Given the description of an element on the screen output the (x, y) to click on. 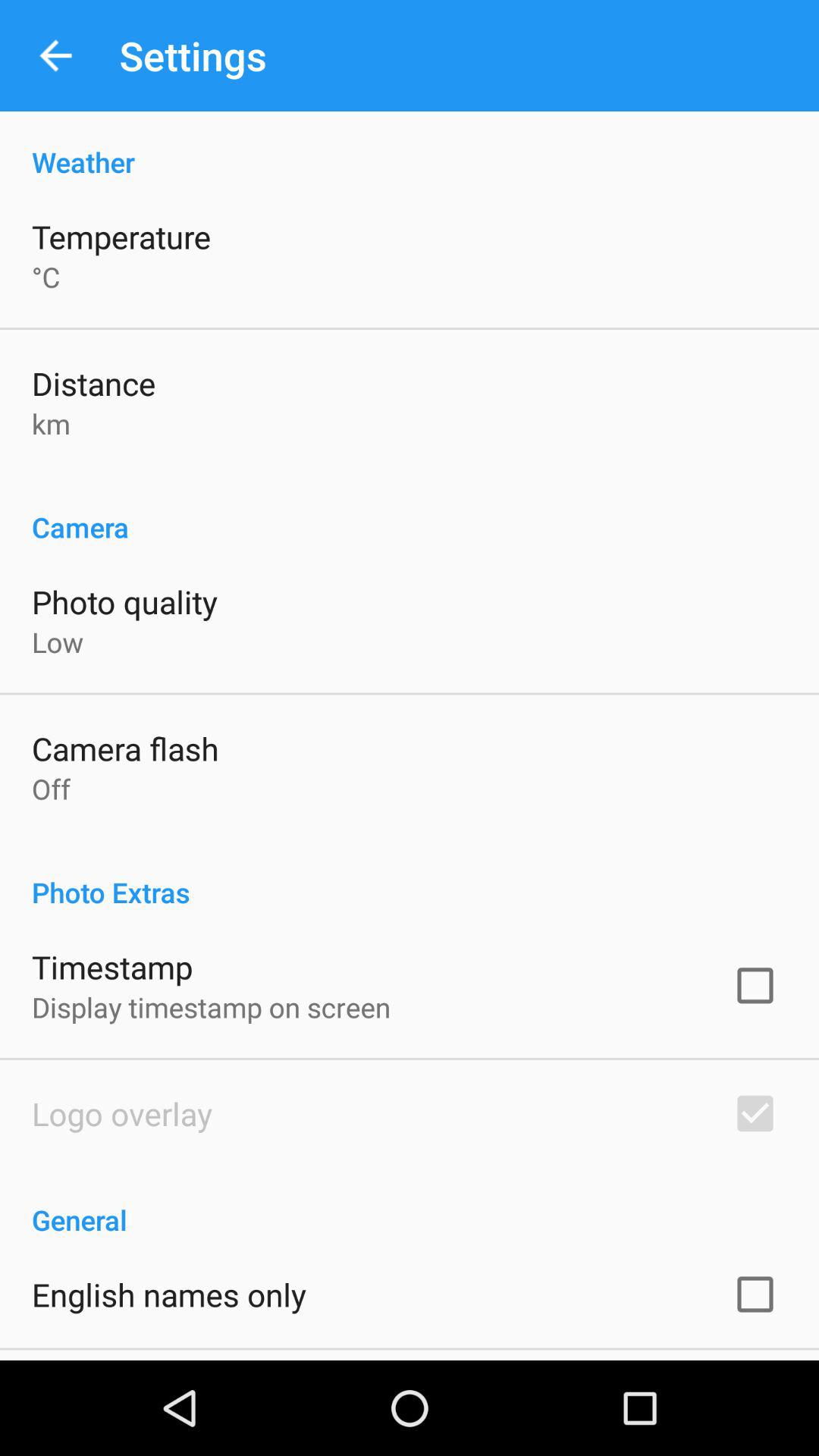
click off (50, 788)
